Given the description of an element on the screen output the (x, y) to click on. 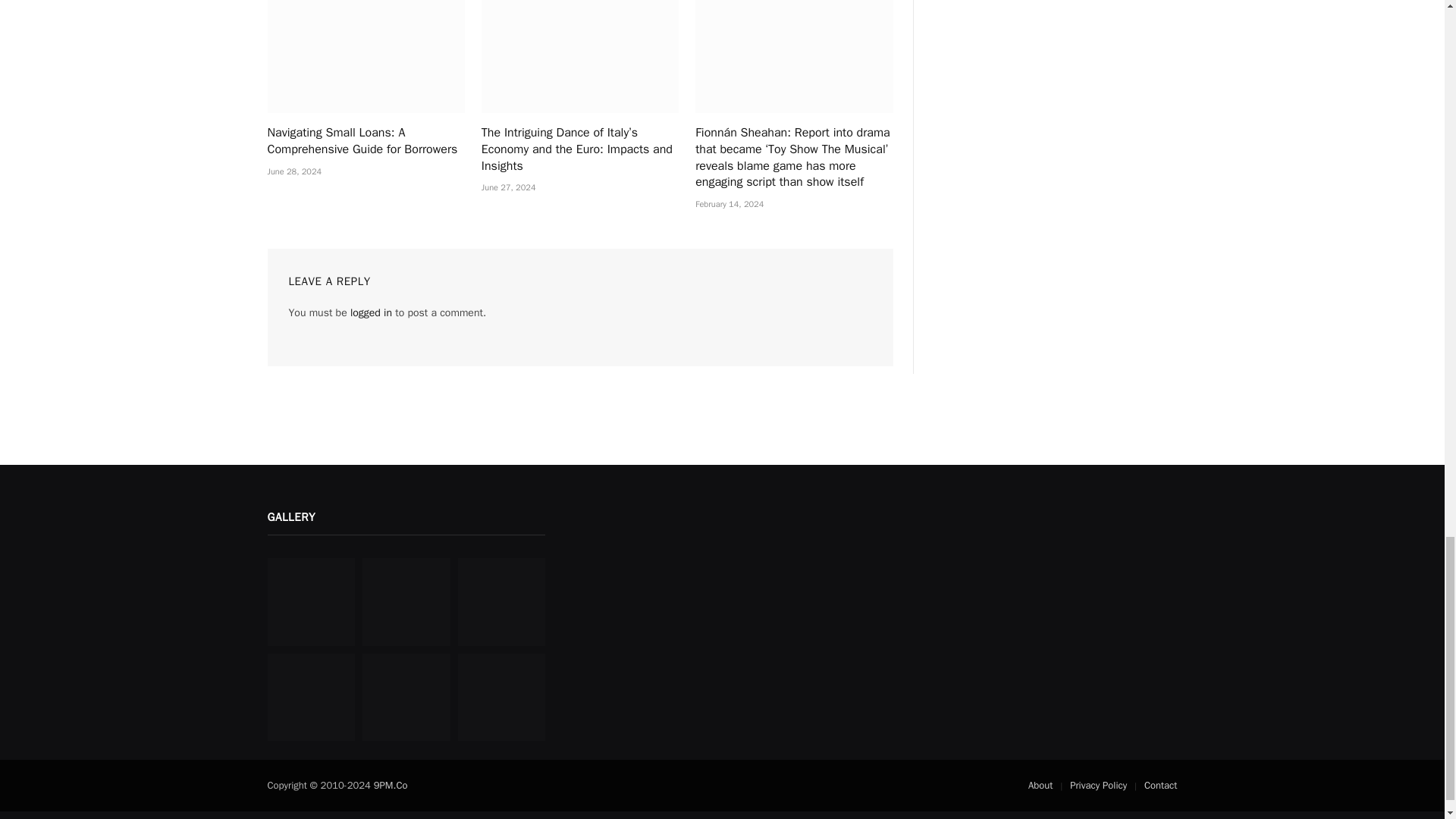
Navigating Small Loans: A Comprehensive Guide for Borrowers (365, 56)
